Given the description of an element on the screen output the (x, y) to click on. 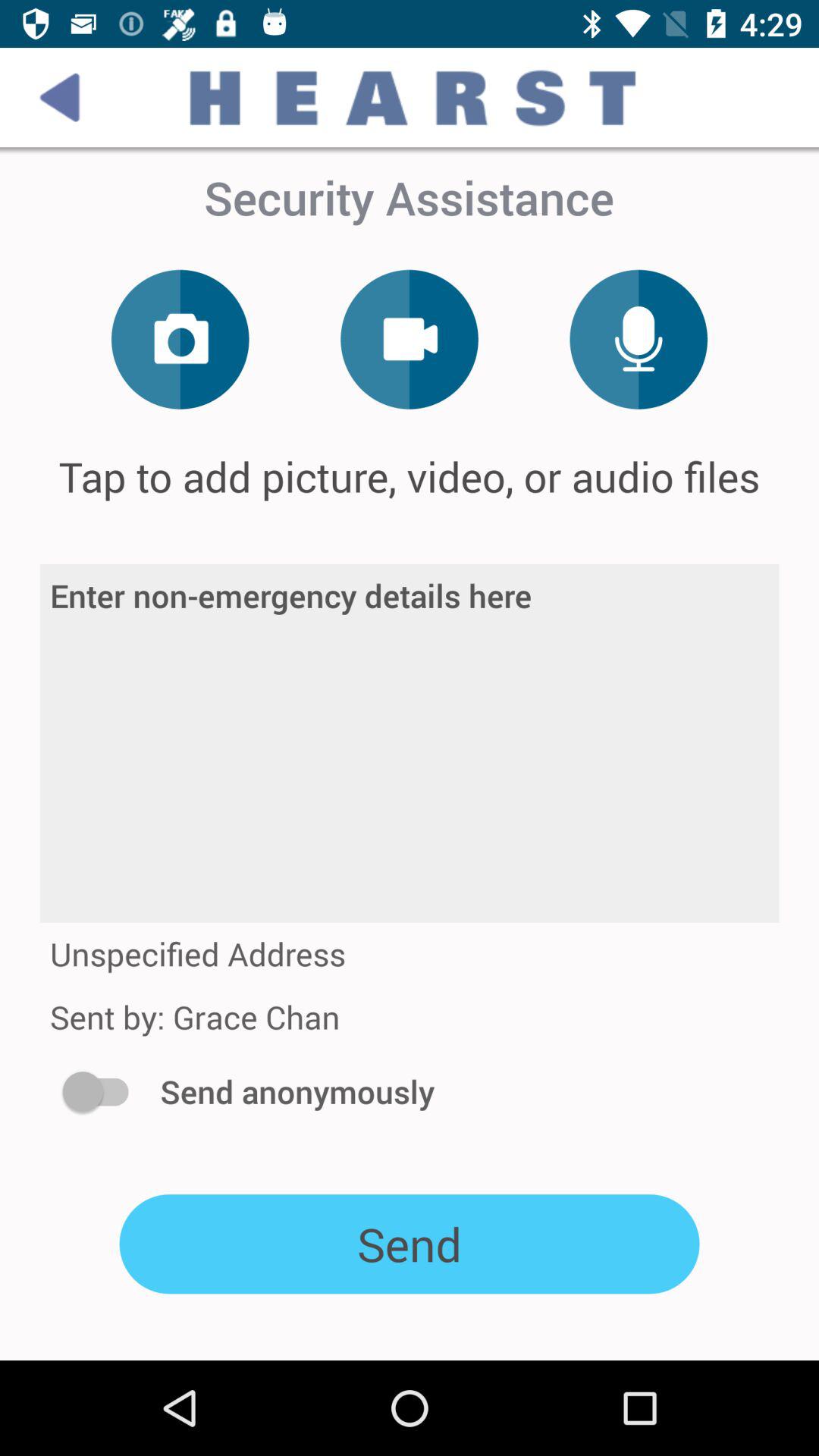
launch icon at the center (409, 743)
